Given the description of an element on the screen output the (x, y) to click on. 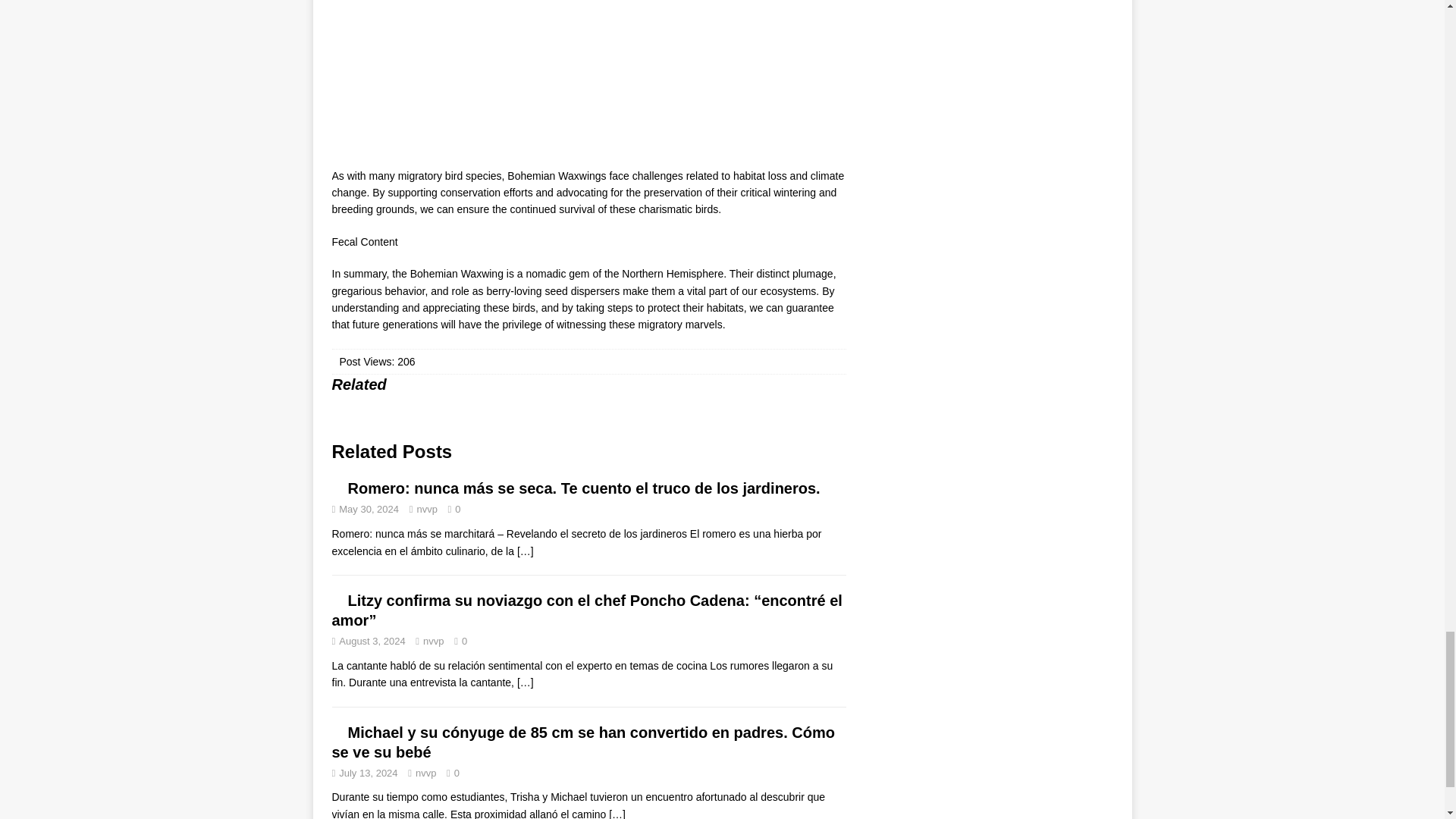
nvvp (433, 641)
nvvp (426, 509)
nvvp (424, 772)
